Given the description of an element on the screen output the (x, y) to click on. 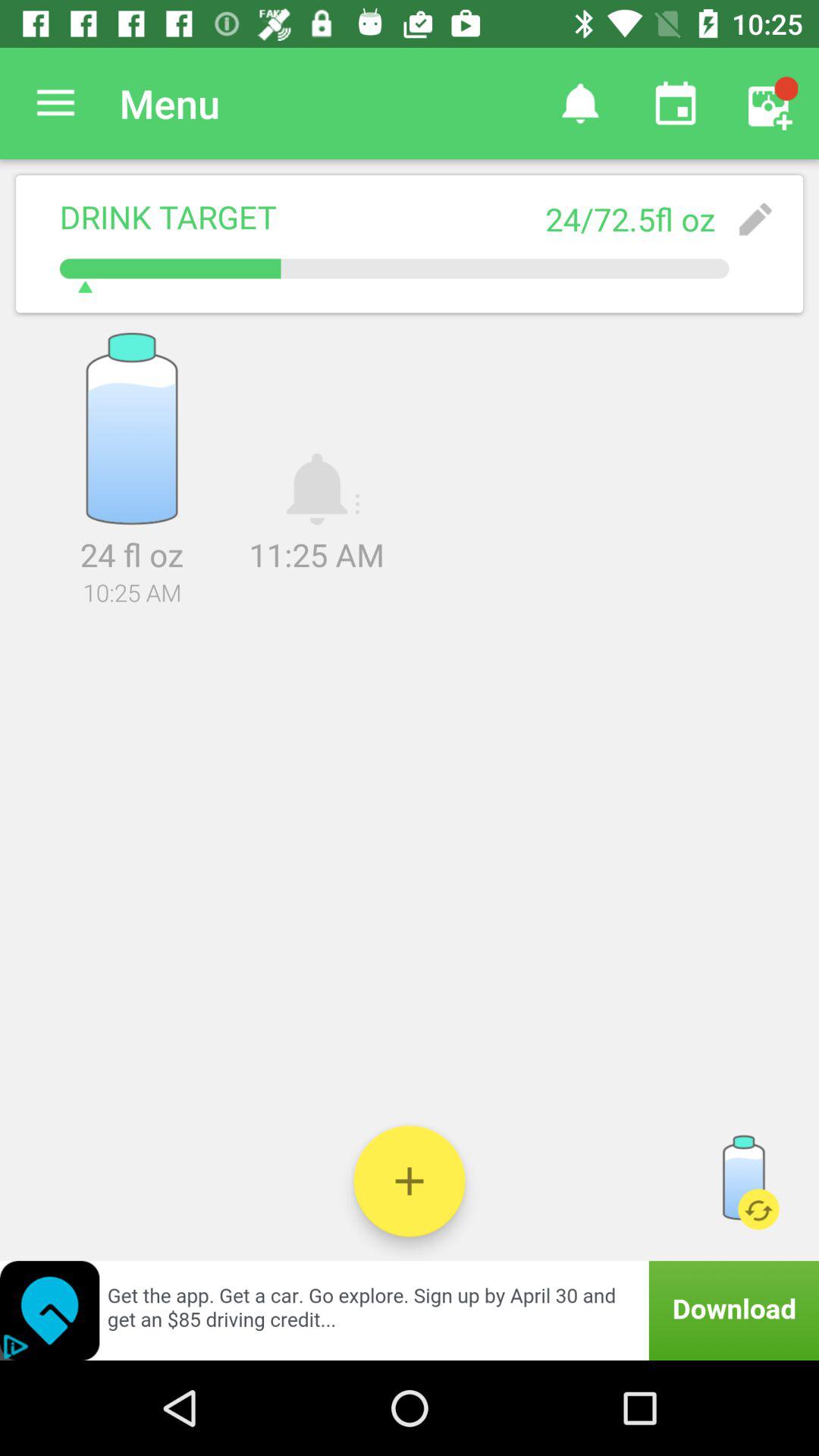
open advertisement (409, 1310)
